Given the description of an element on the screen output the (x, y) to click on. 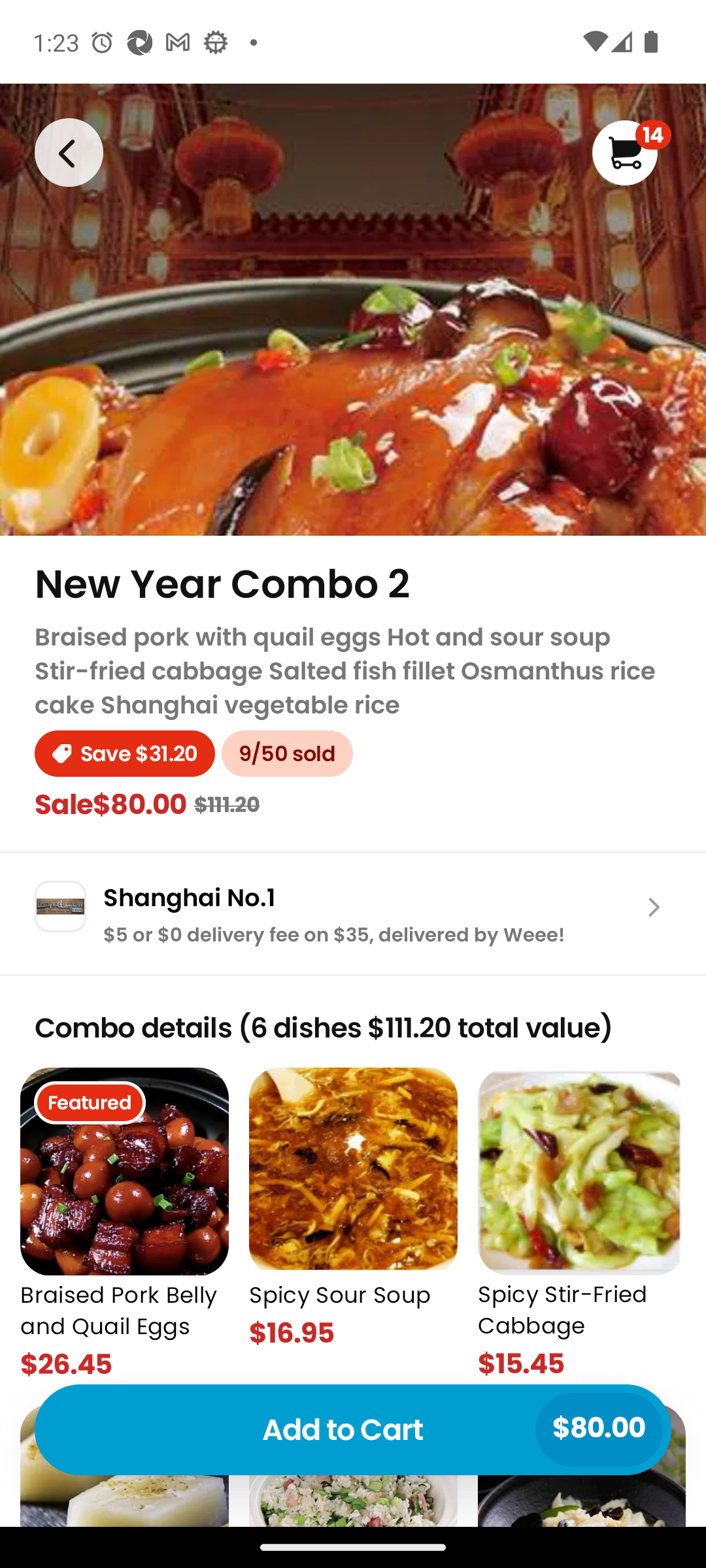
Image (68, 151)
14 (631, 152)
Image Spicy Sour Soup $16.95 (353, 1224)
Image Spicy Stir-Fried Cabbage $15.45 (581, 1224)
Add to Cart $80.00 (352, 1429)
